Given the description of an element on the screen output the (x, y) to click on. 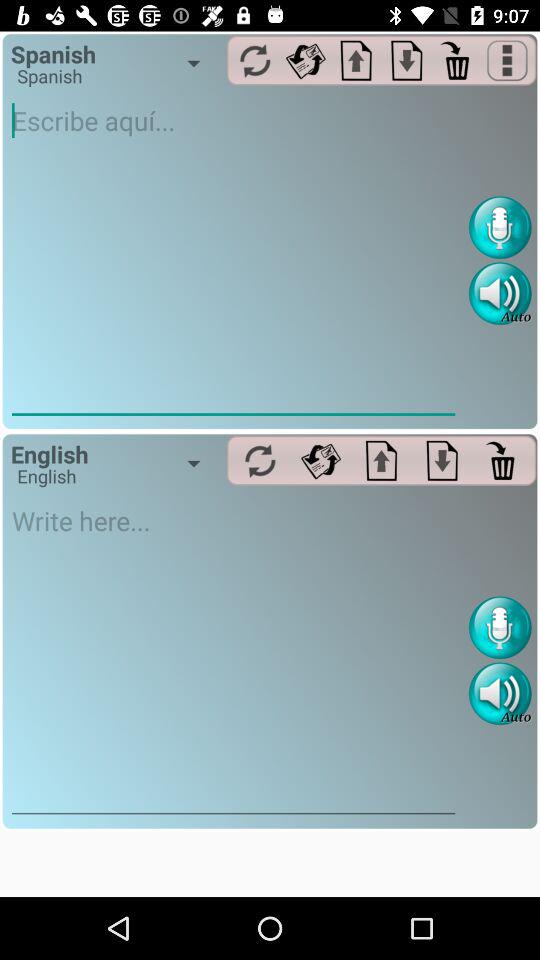
translate to spanish (259, 460)
